Given the description of an element on the screen output the (x, y) to click on. 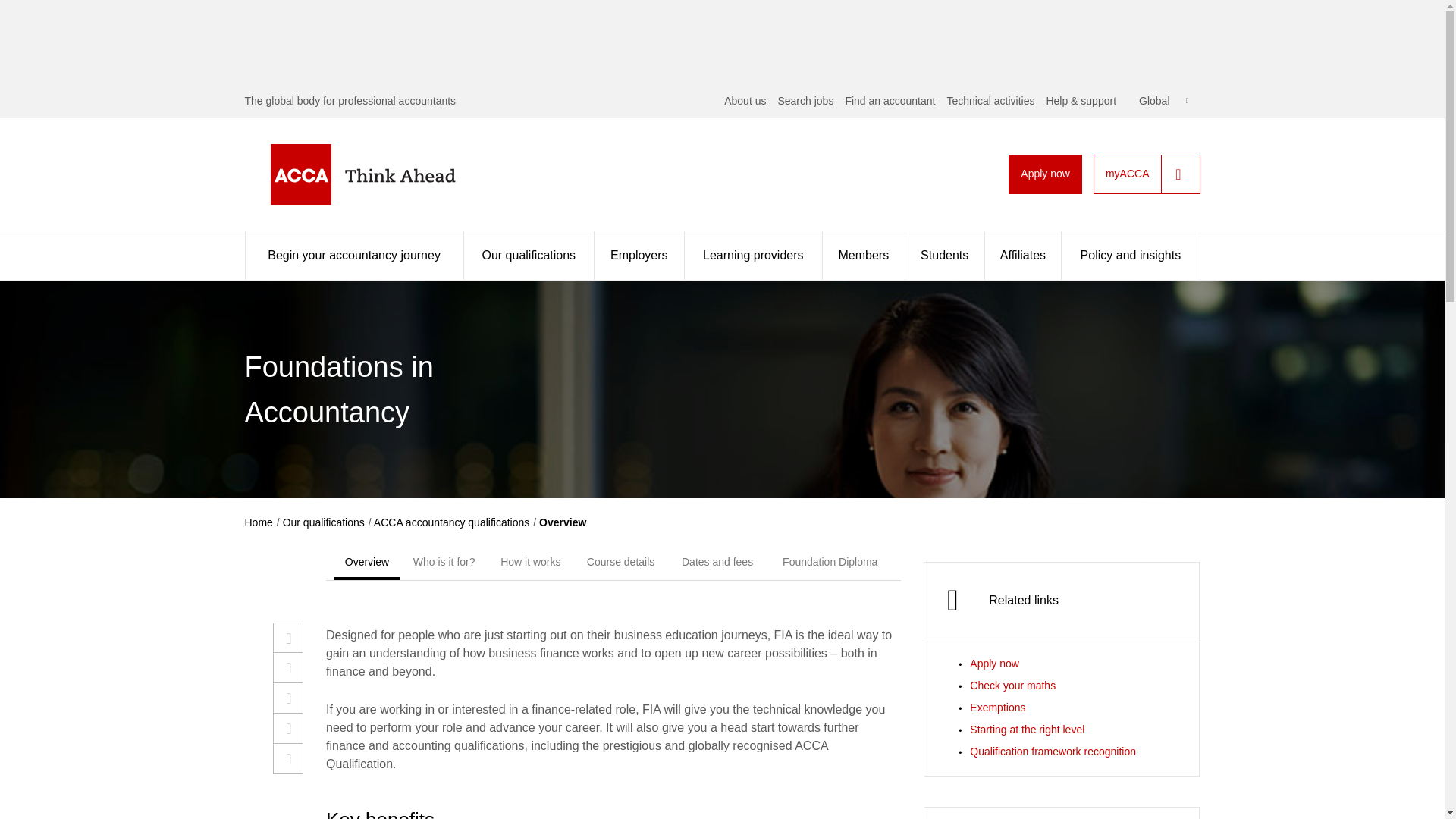
Exemptions (997, 707)
Check your maths (1012, 685)
Search jobs (804, 101)
Global (1162, 100)
About us (744, 101)
Technical activities (989, 101)
Find an accountant (889, 101)
ACCA - Think Ahead (387, 174)
Global (1162, 100)
Starting at the right level (1026, 729)
